Given the description of an element on the screen output the (x, y) to click on. 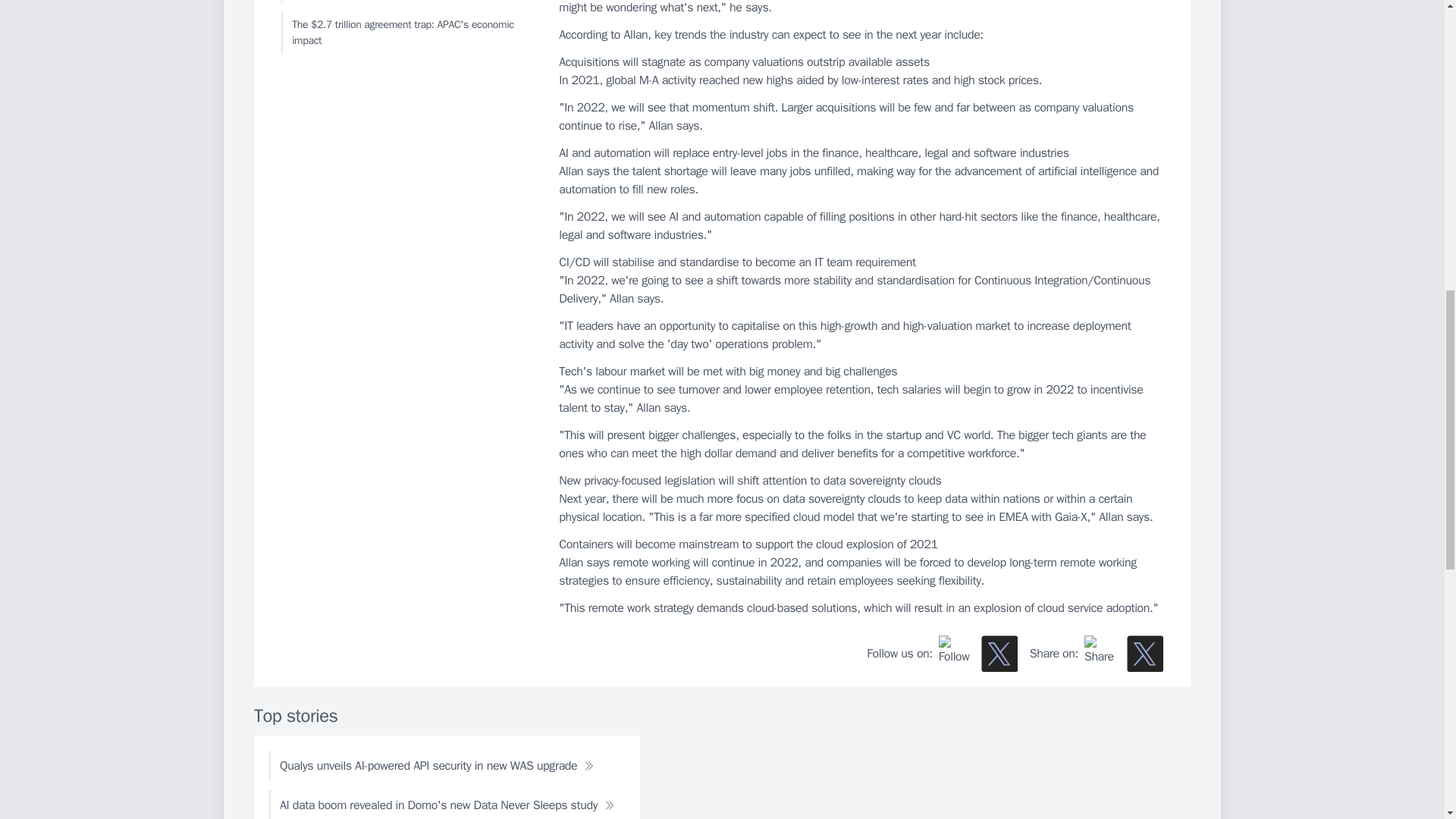
Qualys unveils AI-powered API security in new WAS upgrade (436, 766)
AI data boom revealed in Domo's new Data Never Sleeps study (446, 804)
